Given the description of an element on the screen output the (x, y) to click on. 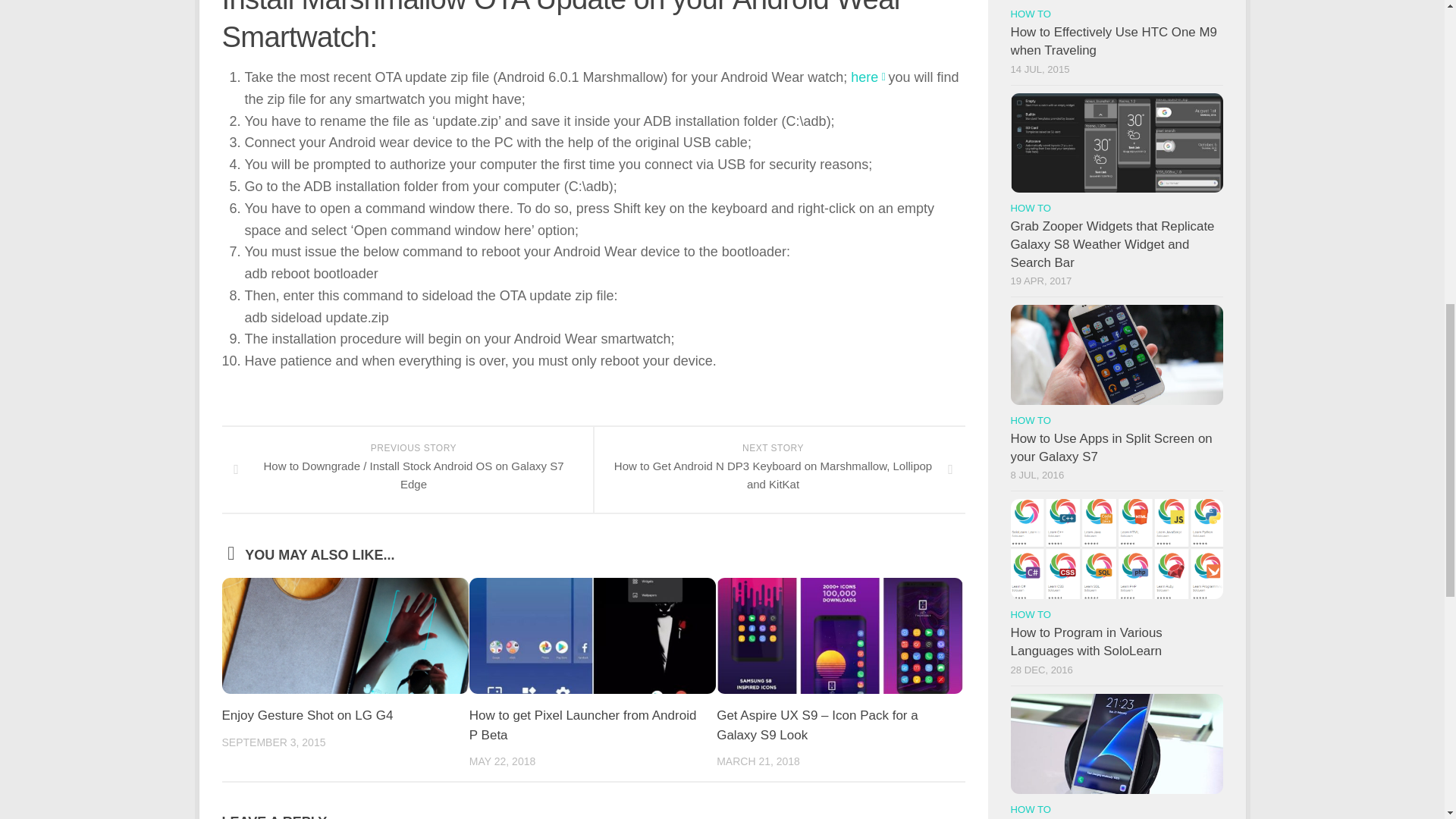
Enjoy Gesture Shot on LG G4 (307, 715)
Permalink to Enjoy Gesture Shot on LG G4 (307, 715)
Permalink to How to get Pixel Launcher from Android P Beta (582, 725)
here (863, 77)
How to get Pixel Launcher from Android P Beta (582, 725)
